Given the description of an element on the screen output the (x, y) to click on. 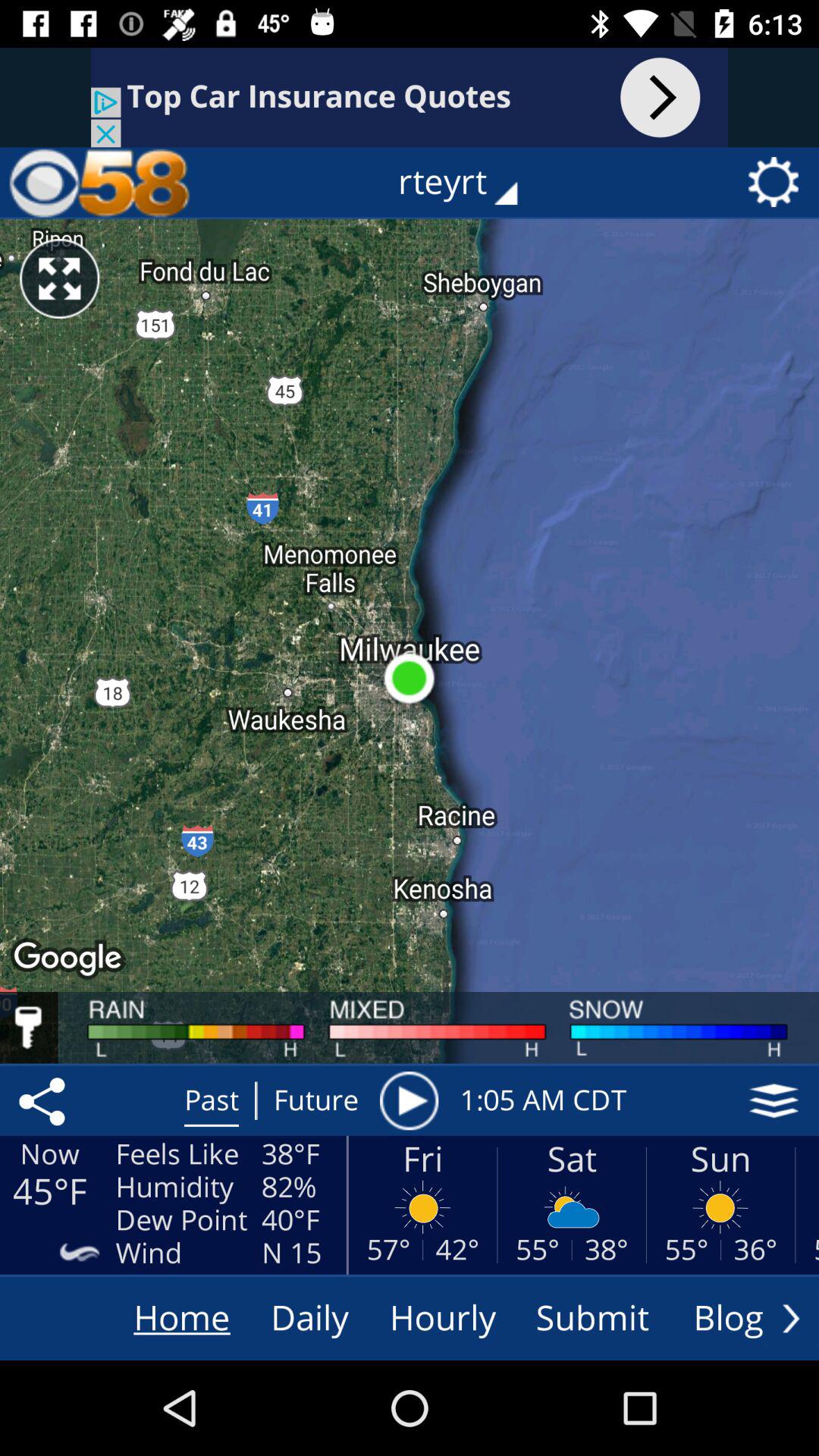
more options hamburger button (774, 1100)
